Given the description of an element on the screen output the (x, y) to click on. 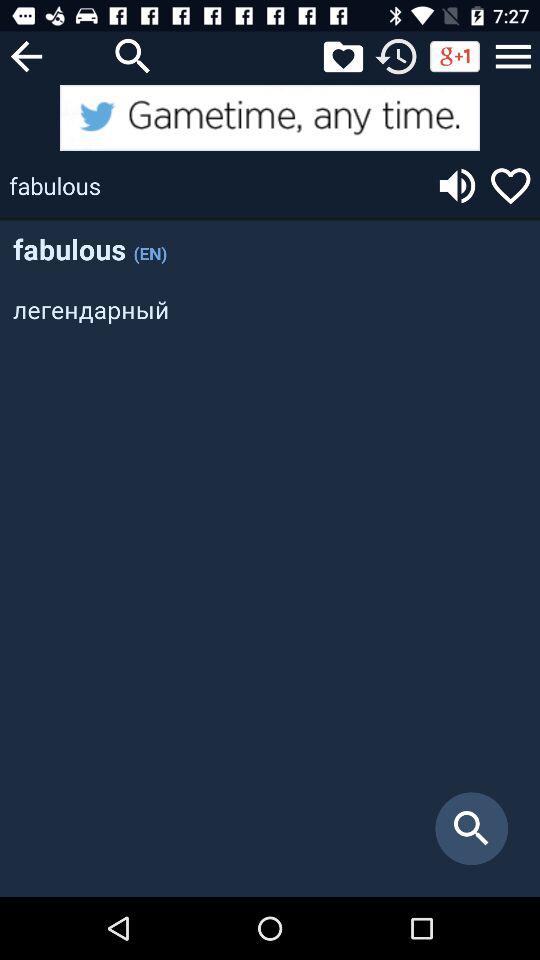
twitter advertisement (270, 117)
